Given the description of an element on the screen output the (x, y) to click on. 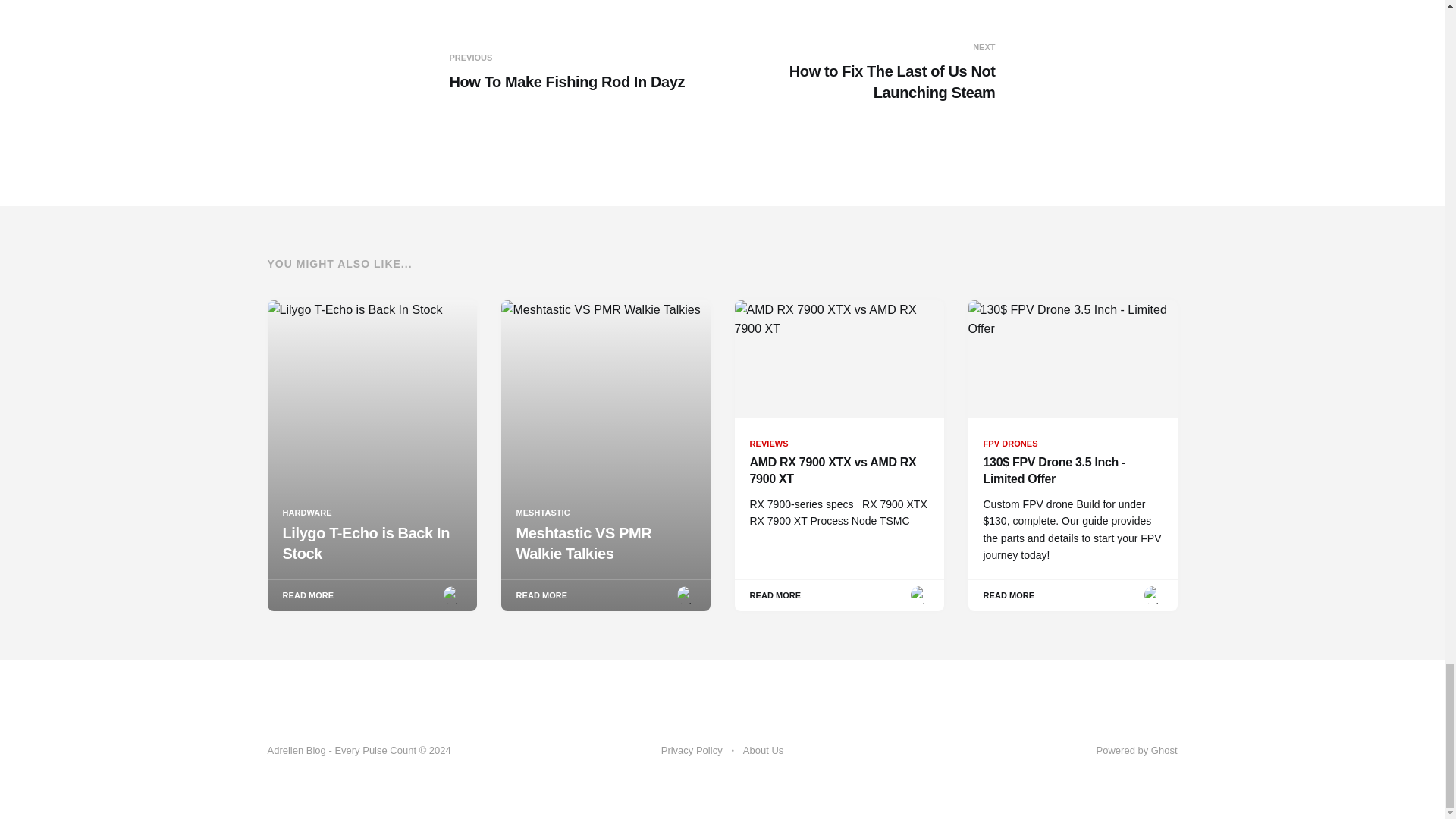
Powered by Ghost (1136, 749)
Privacy Policy (861, 71)
About Us (691, 750)
